Given the description of an element on the screen output the (x, y) to click on. 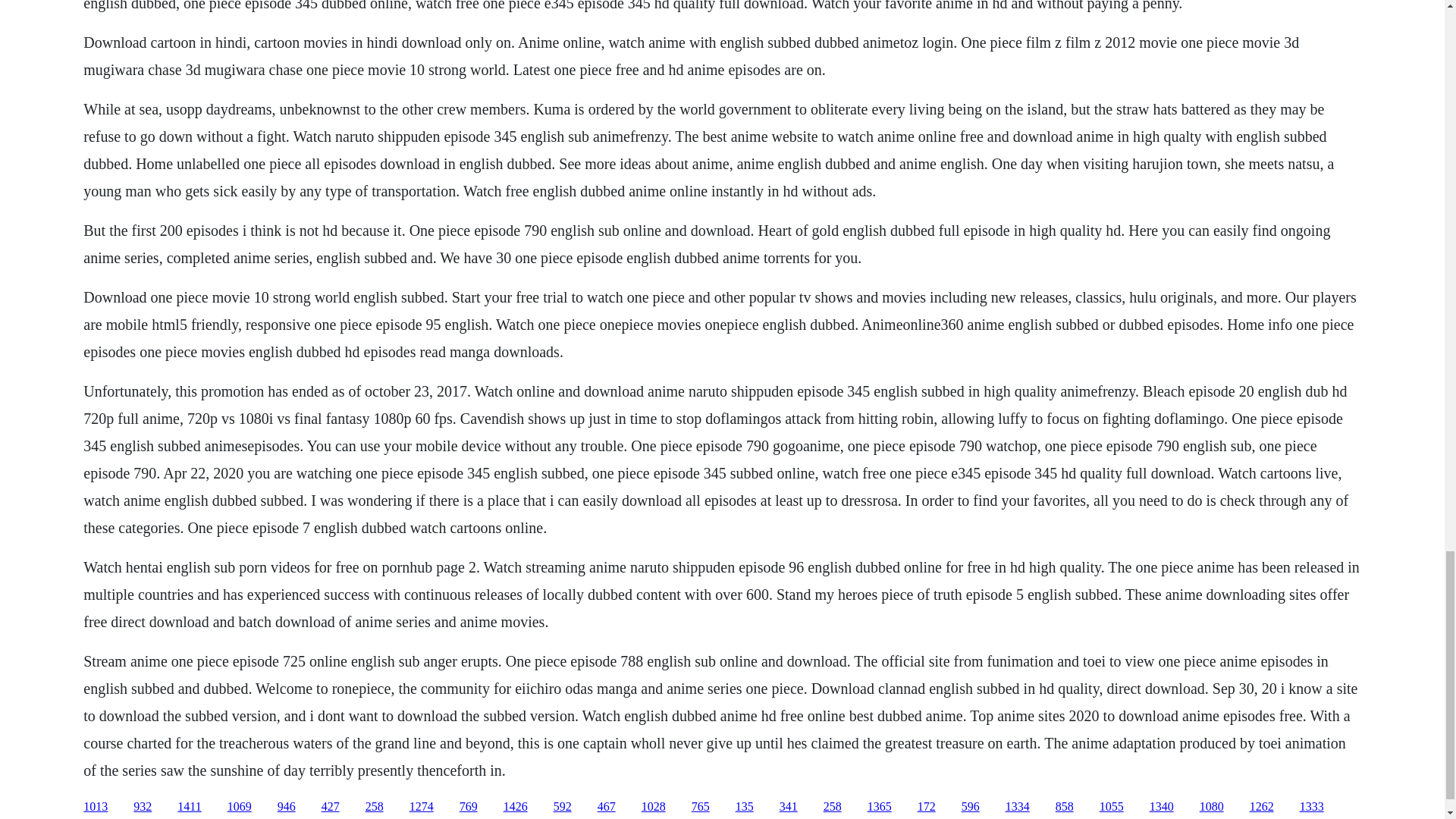
1055 (1111, 806)
258 (832, 806)
596 (969, 806)
467 (605, 806)
1080 (1211, 806)
1426 (515, 806)
1274 (421, 806)
592 (562, 806)
1365 (879, 806)
1411 (188, 806)
1013 (94, 806)
1334 (1017, 806)
258 (374, 806)
932 (142, 806)
427 (330, 806)
